Given the description of an element on the screen output the (x, y) to click on. 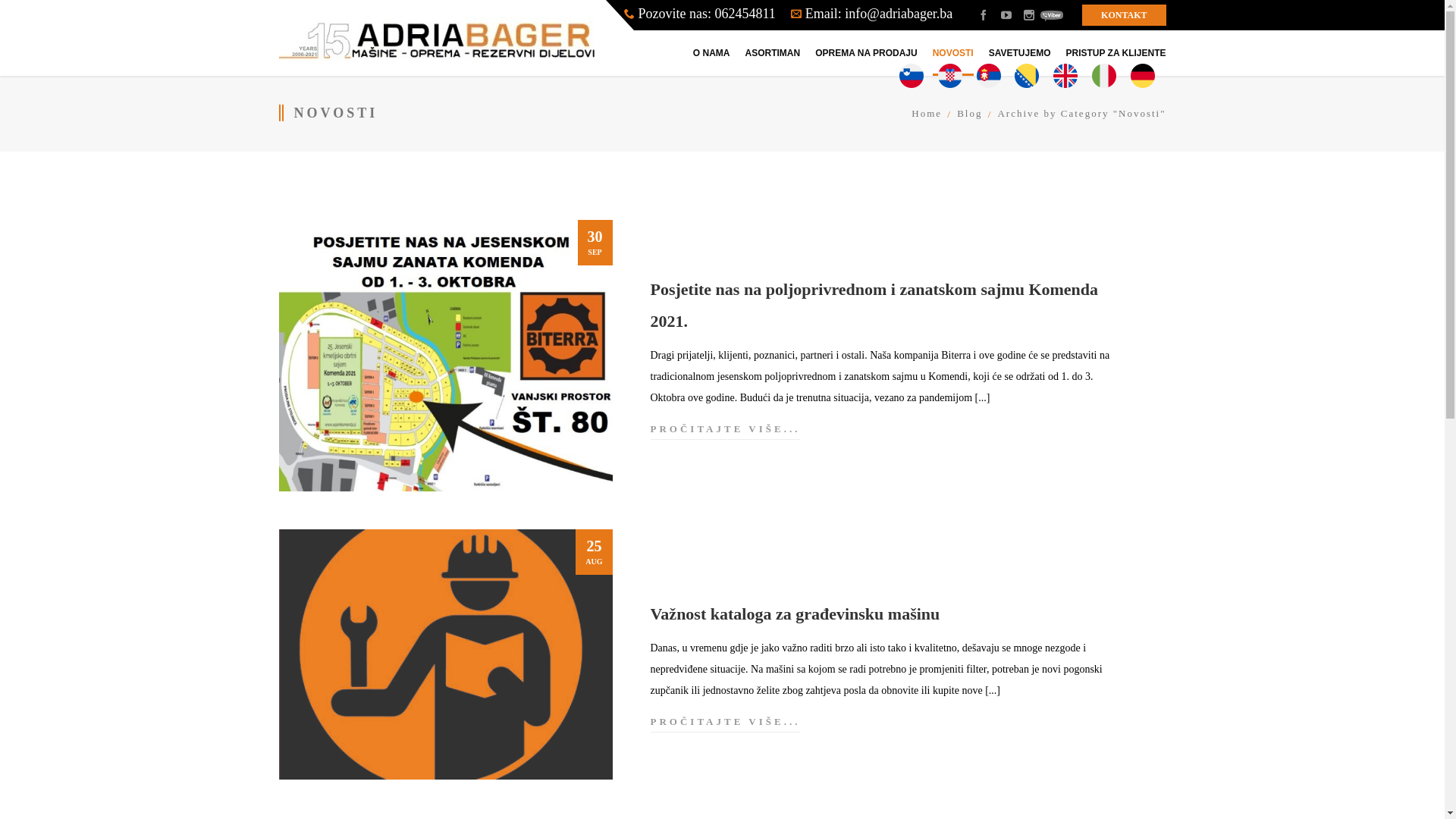
ASORTIMAN Element type: text (772, 52)
OPREMA NA PRODAJU Element type: text (865, 52)
062454811 Element type: text (744, 13)
KONTAKT Element type: text (1123, 14)
viber Element type: hover (1051, 15)
PRISTUP ZA KLIJENTE Element type: text (1115, 52)
O NAMA Element type: text (711, 52)
SAVETUJEMO Element type: text (1019, 52)
Adriabager BA Element type: hover (438, 37)
facebook Element type: hover (983, 15)
Blog Element type: text (961, 113)
instagram Element type: hover (1028, 15)
Home Element type: text (926, 113)
info@adriabager.ba Element type: text (898, 13)
youtube Element type: hover (1005, 15)
NOVOSTI Element type: text (952, 52)
